Given the description of an element on the screen output the (x, y) to click on. 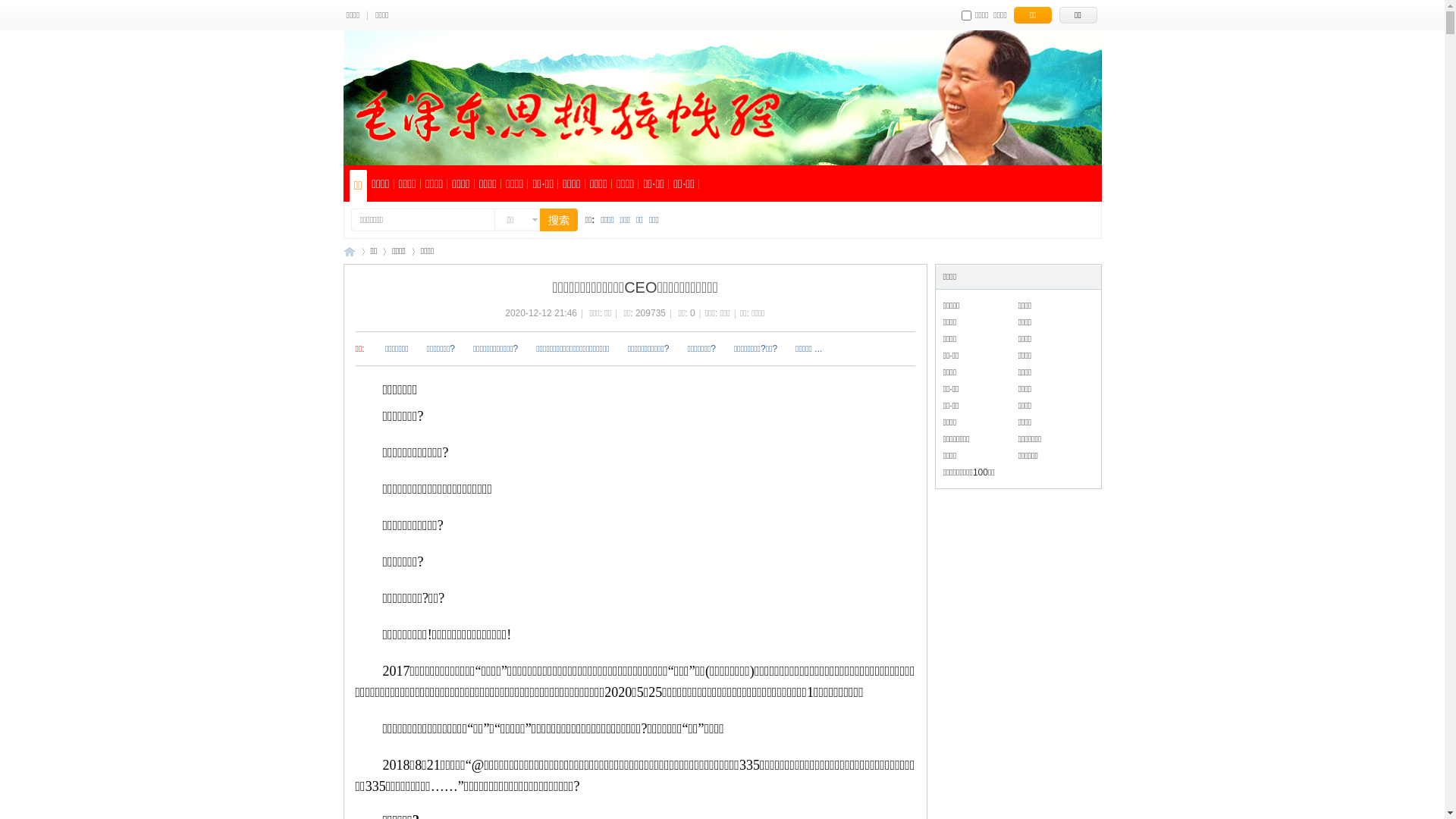
true Element type: text (549, 219)
